Given the description of an element on the screen output the (x, y) to click on. 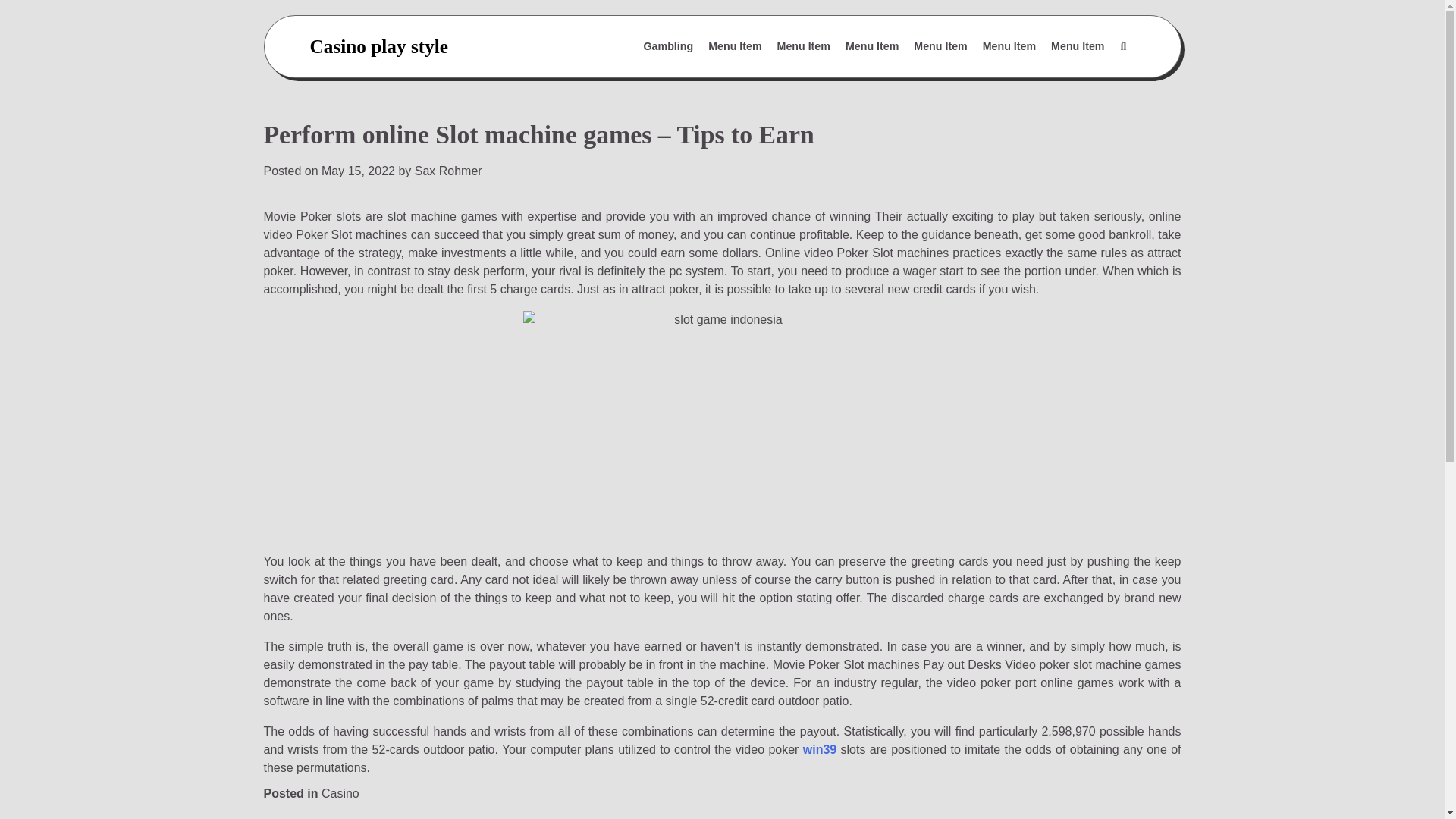
Menu Item (1077, 46)
Search (1123, 47)
Casino (340, 793)
Menu Item (939, 46)
Menu Item (734, 46)
Menu Item (1009, 46)
Sax Rohmer (447, 170)
Menu Item (804, 46)
Casino play style (378, 46)
May 15, 2022 (357, 170)
Gambling (668, 46)
win39 (819, 748)
Search (1086, 83)
Menu Item (871, 46)
